Given the description of an element on the screen output the (x, y) to click on. 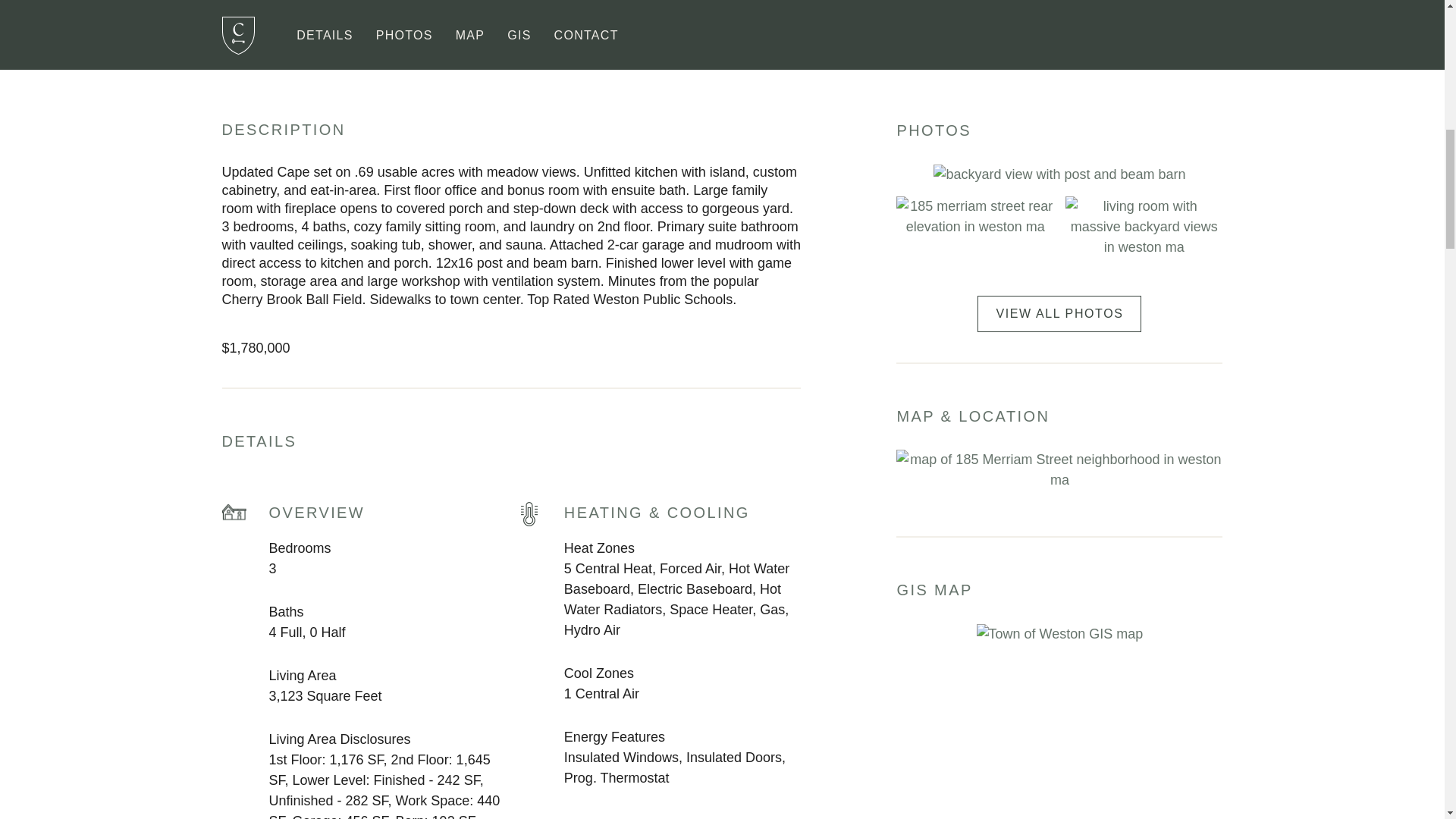
GIS (518, 27)
CONTACT (586, 27)
VIEW ALL PHOTOS (1058, 313)
PHOTOS (404, 27)
MAP (470, 27)
DETAILS (324, 27)
